Given the description of an element on the screen output the (x, y) to click on. 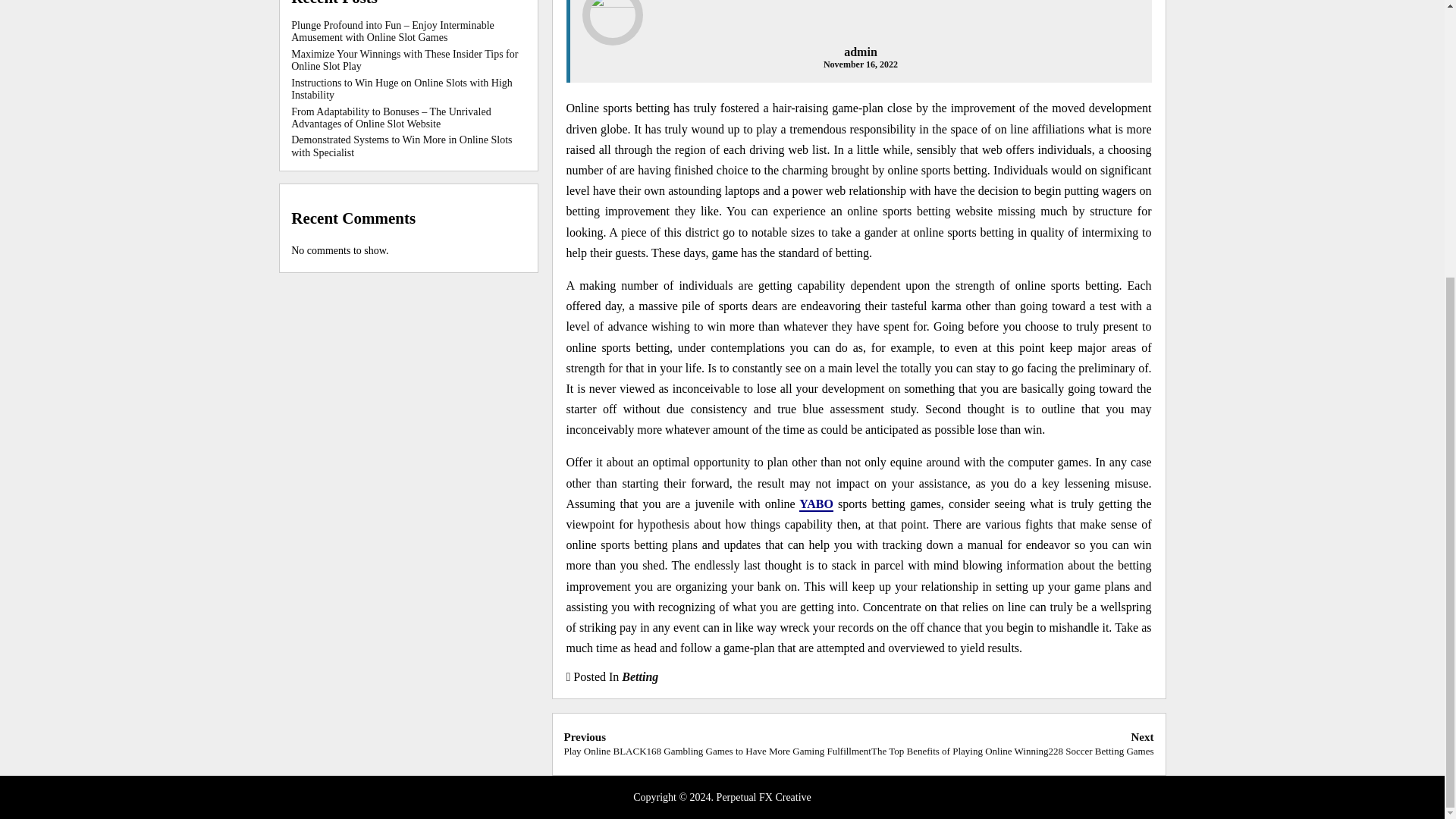
Betting (639, 676)
admin (860, 51)
Perpetual FX Creative (763, 797)
November 16, 2022 (861, 63)
View all posts by admin (860, 51)
